Given the description of an element on the screen output the (x, y) to click on. 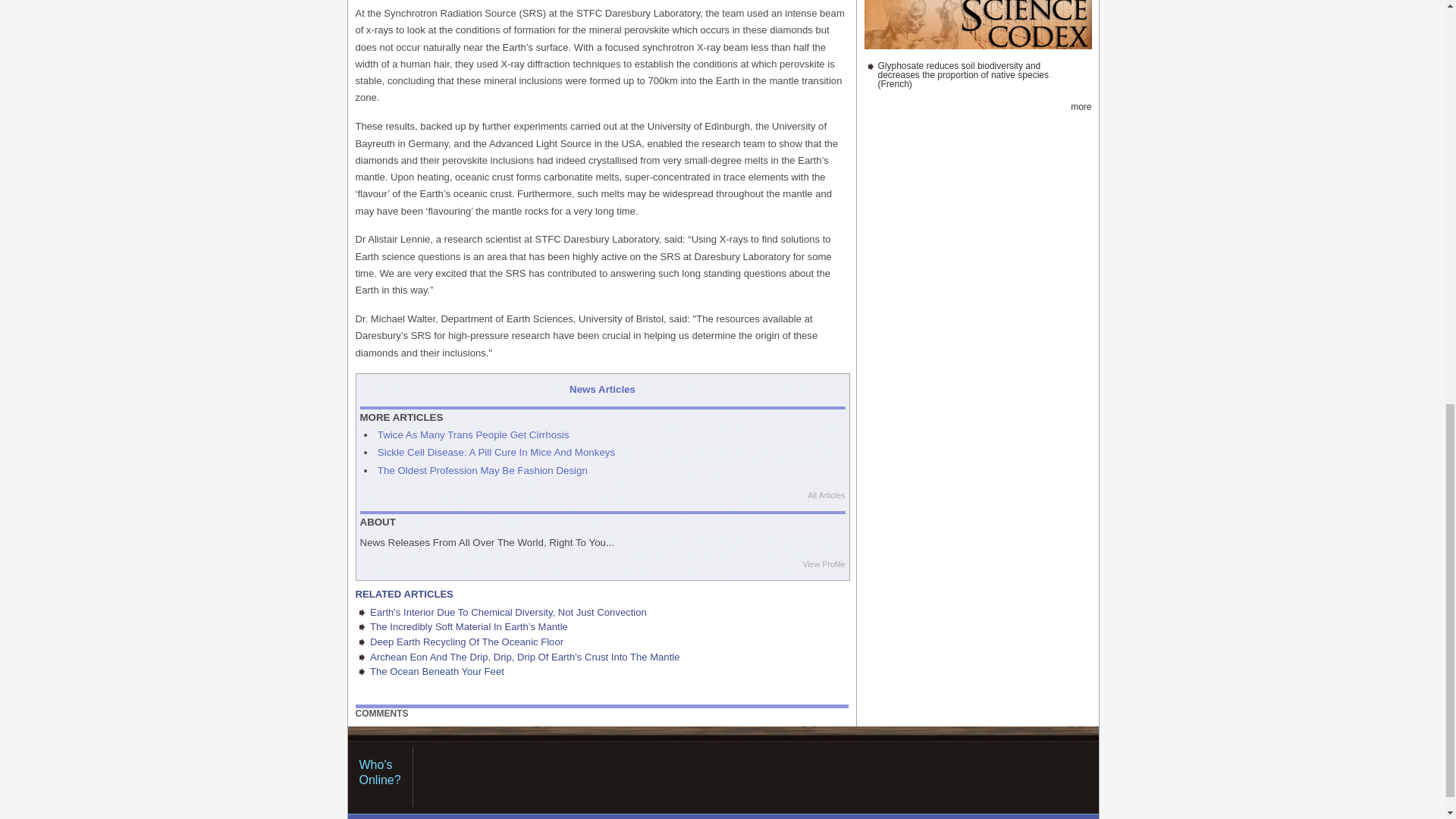
View this feed's recent news. (1080, 106)
